Given the description of an element on the screen output the (x, y) to click on. 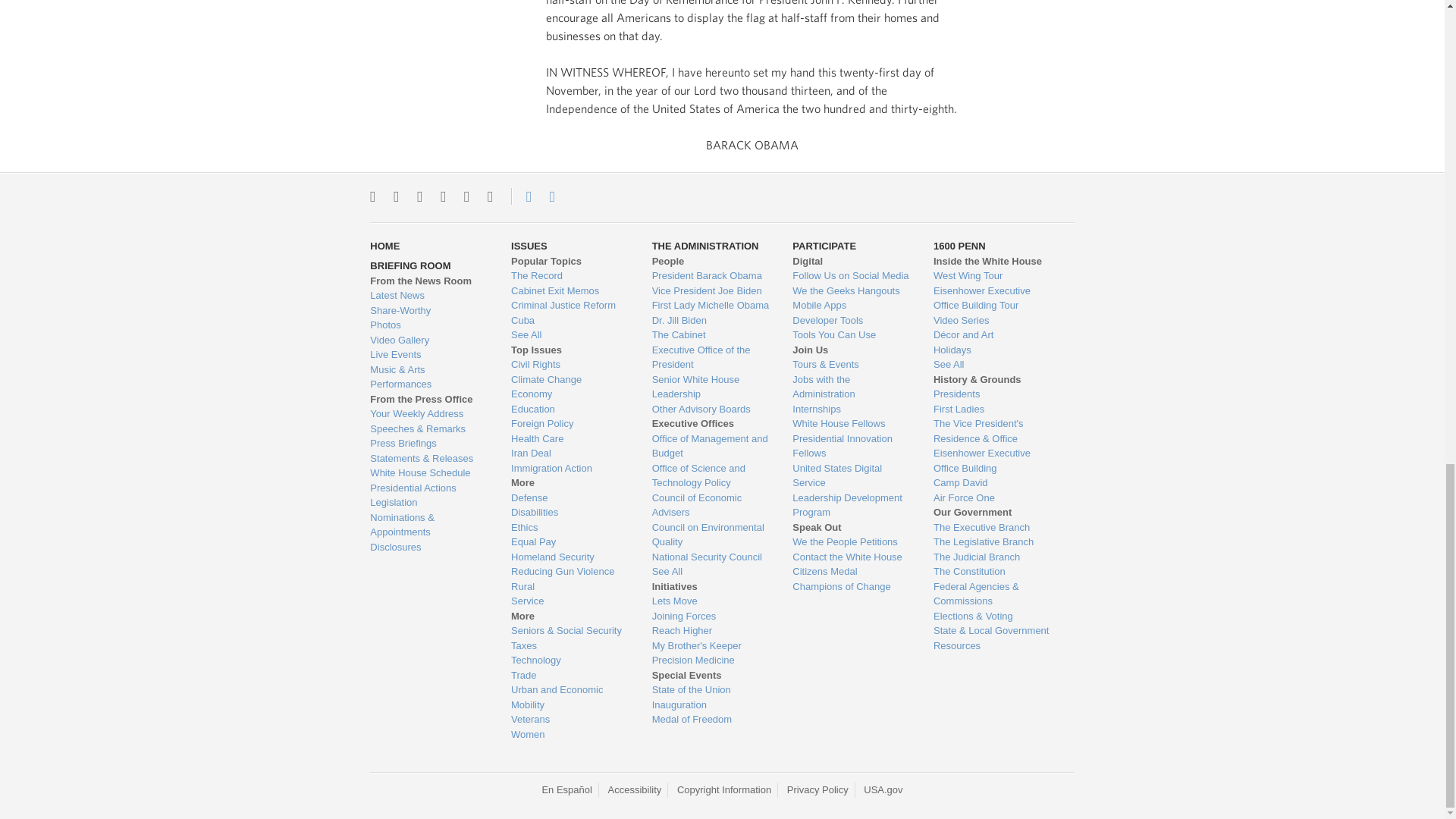
View the photo of the day and other galleries (428, 324)
Check out the most popular infographics and videos (428, 310)
Read the latest blog posts from 1600 Pennsylvania Ave (428, 295)
Contact the Whitehouse. (521, 196)
Watch behind-the-scenes videos and more (428, 340)
